Given the description of an element on the screen output the (x, y) to click on. 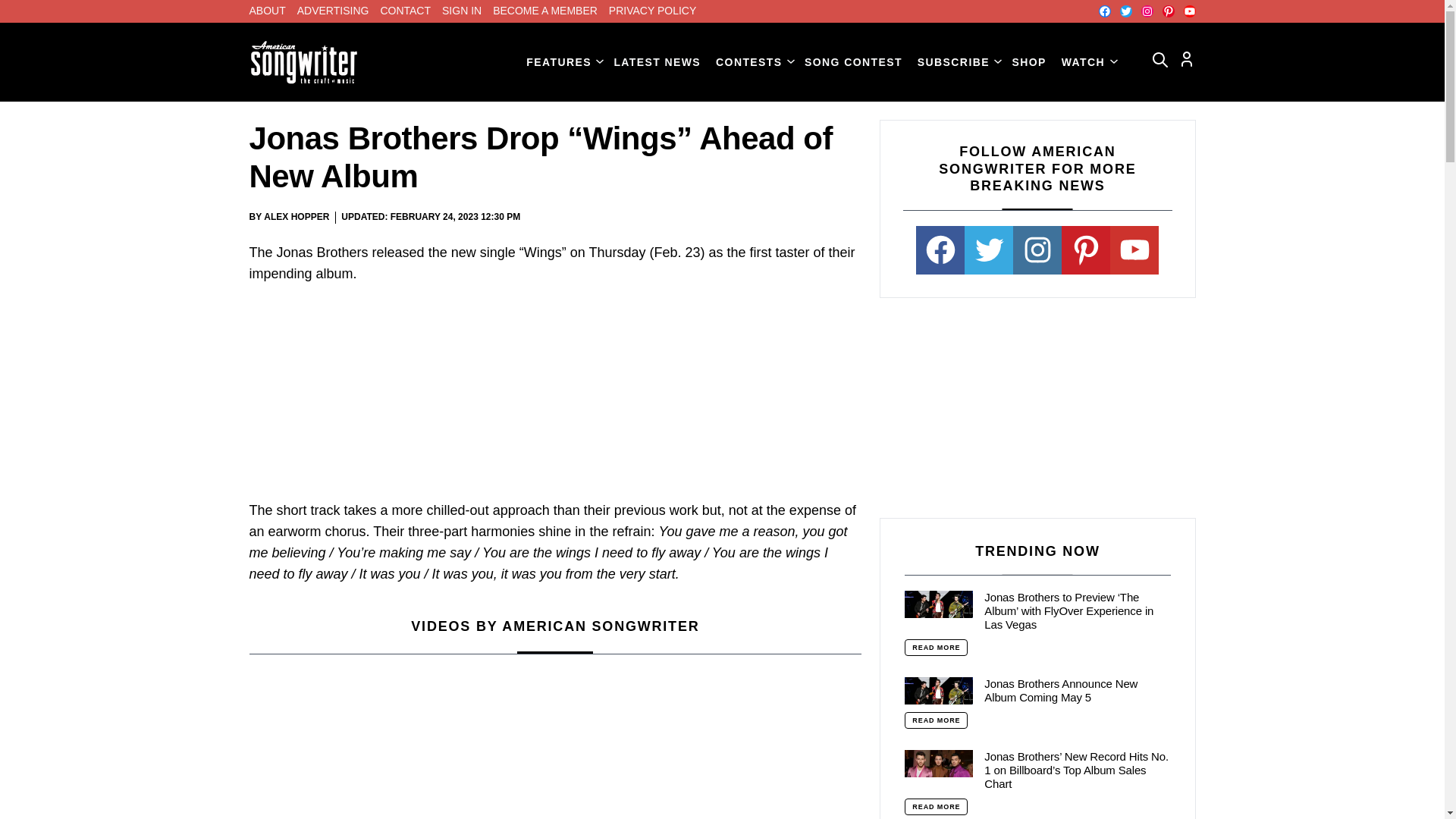
Facebook (1103, 10)
SIGN IN (461, 10)
ADVERTISING (333, 10)
Twitter (1125, 10)
ABOUT (266, 10)
Instagram (1146, 10)
February 24, 2023 12:30 pm (454, 217)
YouTube (1188, 10)
Posts by Alex Hopper (296, 216)
CONTACT (405, 10)
